Given the description of an element on the screen output the (x, y) to click on. 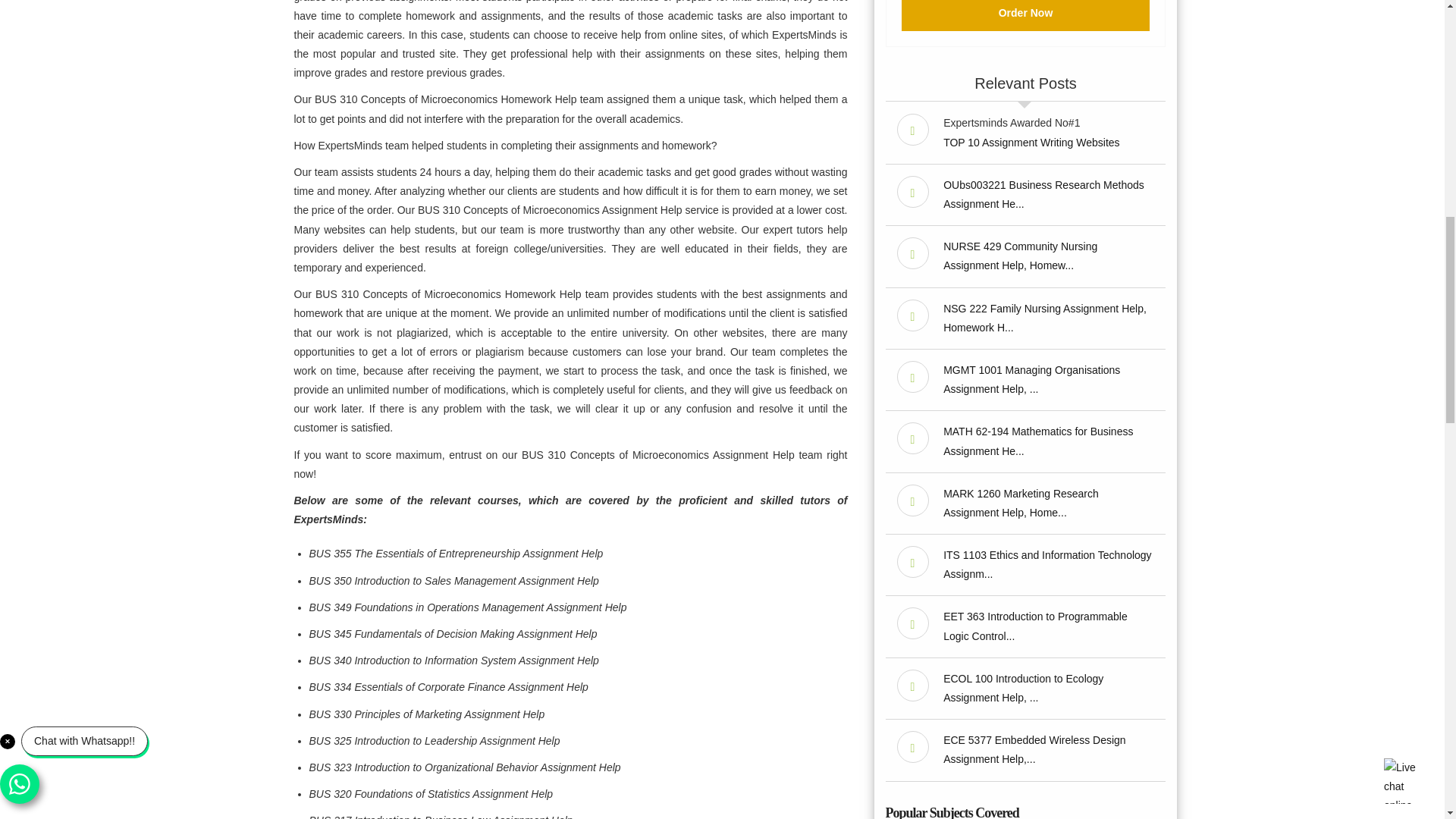
TOP 10 Assignment Writing Websites (1031, 142)
OUbs003221 Business Research Methods Assignment He... (1043, 194)
NSG 222 Family Nursing Assignment Help, Homework H... (1045, 317)
MGMT 1001 Managing Organisations Assignment Help, ... (1031, 378)
Order Now (1025, 15)
NURSE 429 Community Nursing Assignment Help, Homew... (1020, 255)
